Given the description of an element on the screen output the (x, y) to click on. 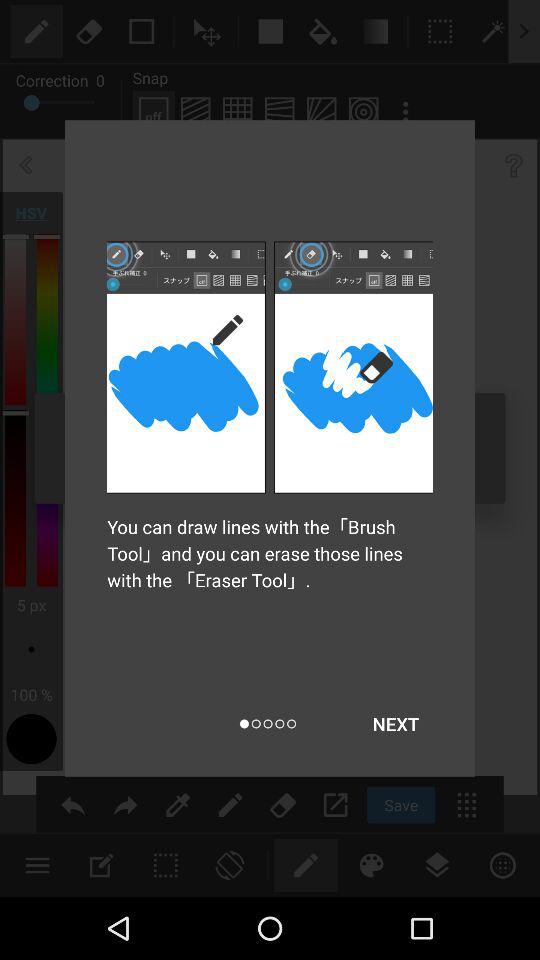
press the next (395, 723)
